Given the description of an element on the screen output the (x, y) to click on. 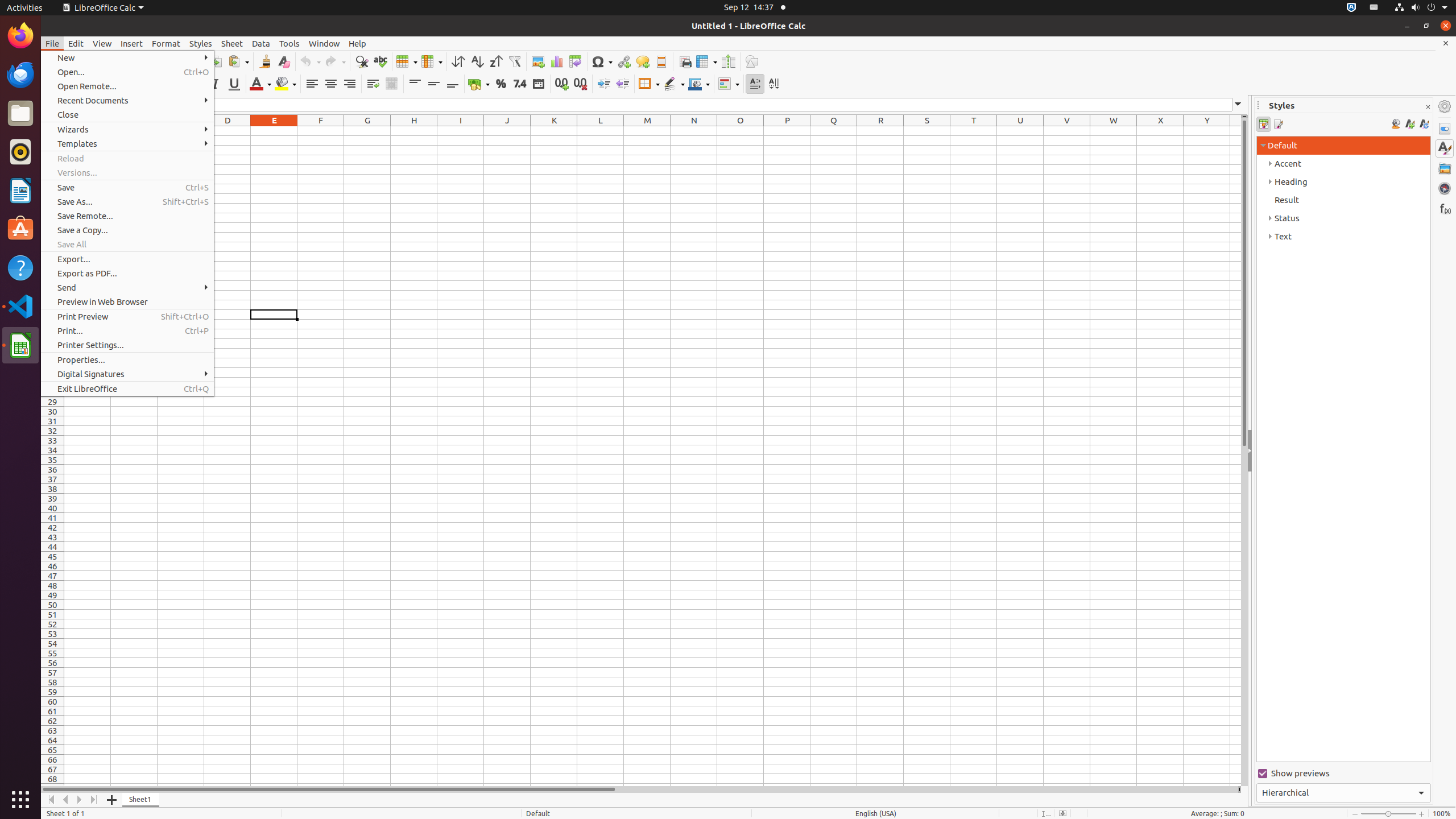
Horizontal scroll bar Element type: scroll-bar (639, 789)
Q1 Element type: table-cell (833, 130)
Pivot Table Element type: push-button (574, 61)
M1 Element type: table-cell (646, 130)
Align Center Element type: push-button (330, 83)
